Given the description of an element on the screen output the (x, y) to click on. 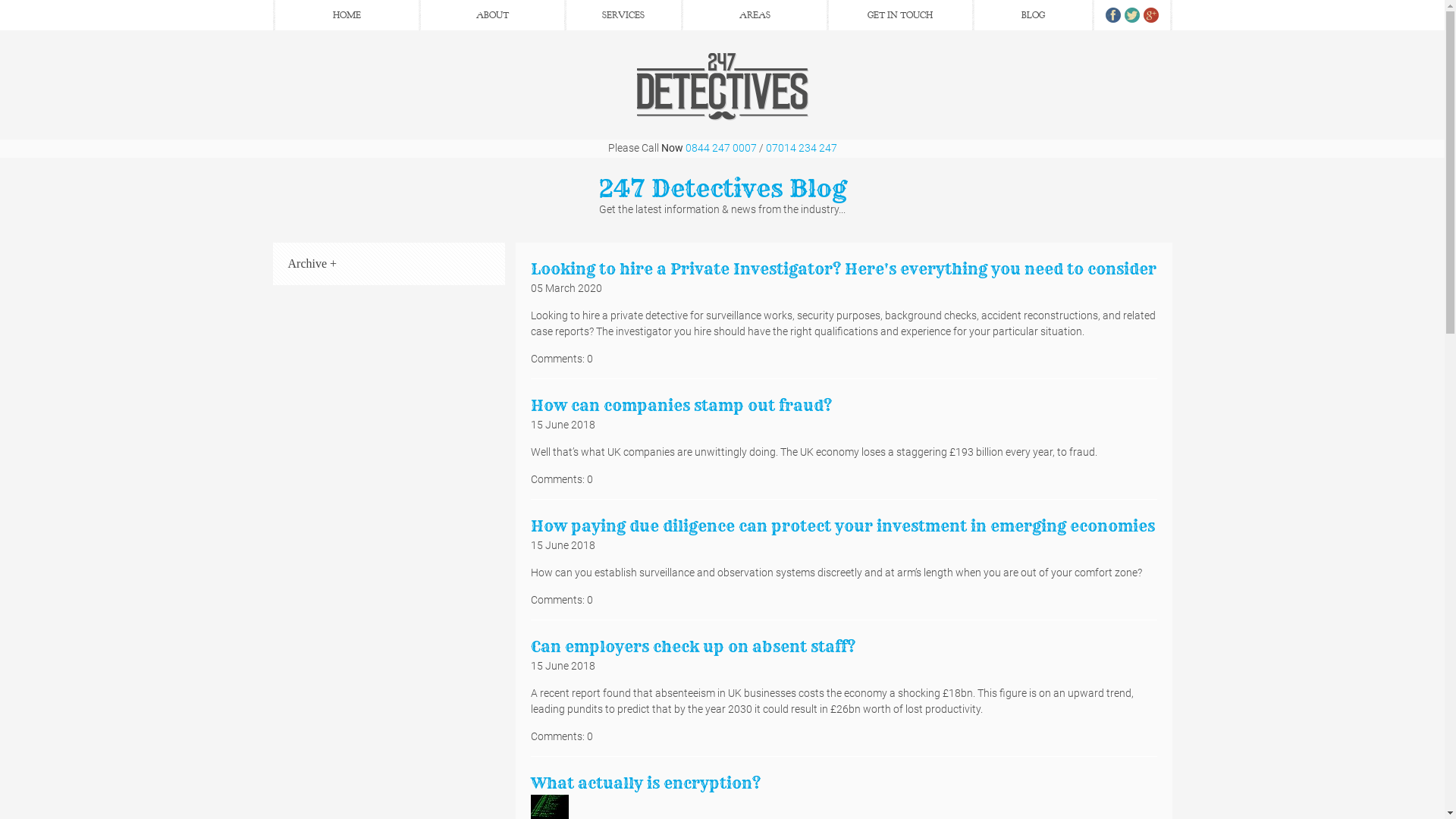
HOME Element type: text (345, 15)
AREAS Element type: text (753, 15)
ABOUT Element type: text (491, 15)
0844 247 0007 Element type: text (720, 147)
How can companies stamp out fraud? Element type: text (680, 404)
What actually is encryption? Element type: text (645, 782)
Archive + Element type: text (312, 263)
Can employers check up on absent staff? Element type: text (692, 646)
GET IN TOUCH Element type: text (899, 15)
SERVICES Element type: text (622, 15)
BLOG Element type: text (1032, 15)
07014 234 247 Element type: text (801, 147)
